Given the description of an element on the screen output the (x, y) to click on. 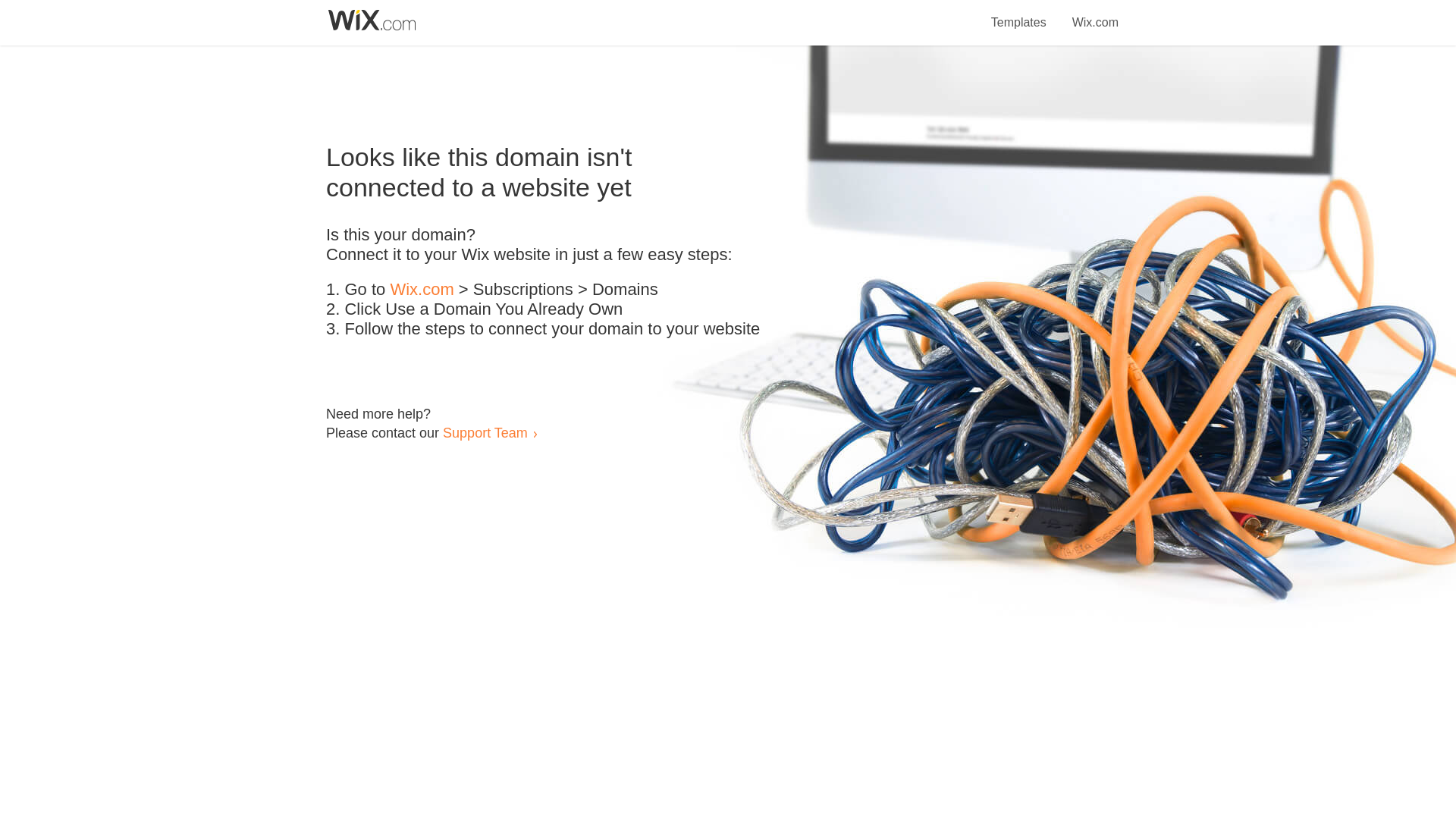
Templates (1018, 14)
Support Team (484, 432)
Wix.com (421, 289)
Wix.com (1095, 14)
